Given the description of an element on the screen output the (x, y) to click on. 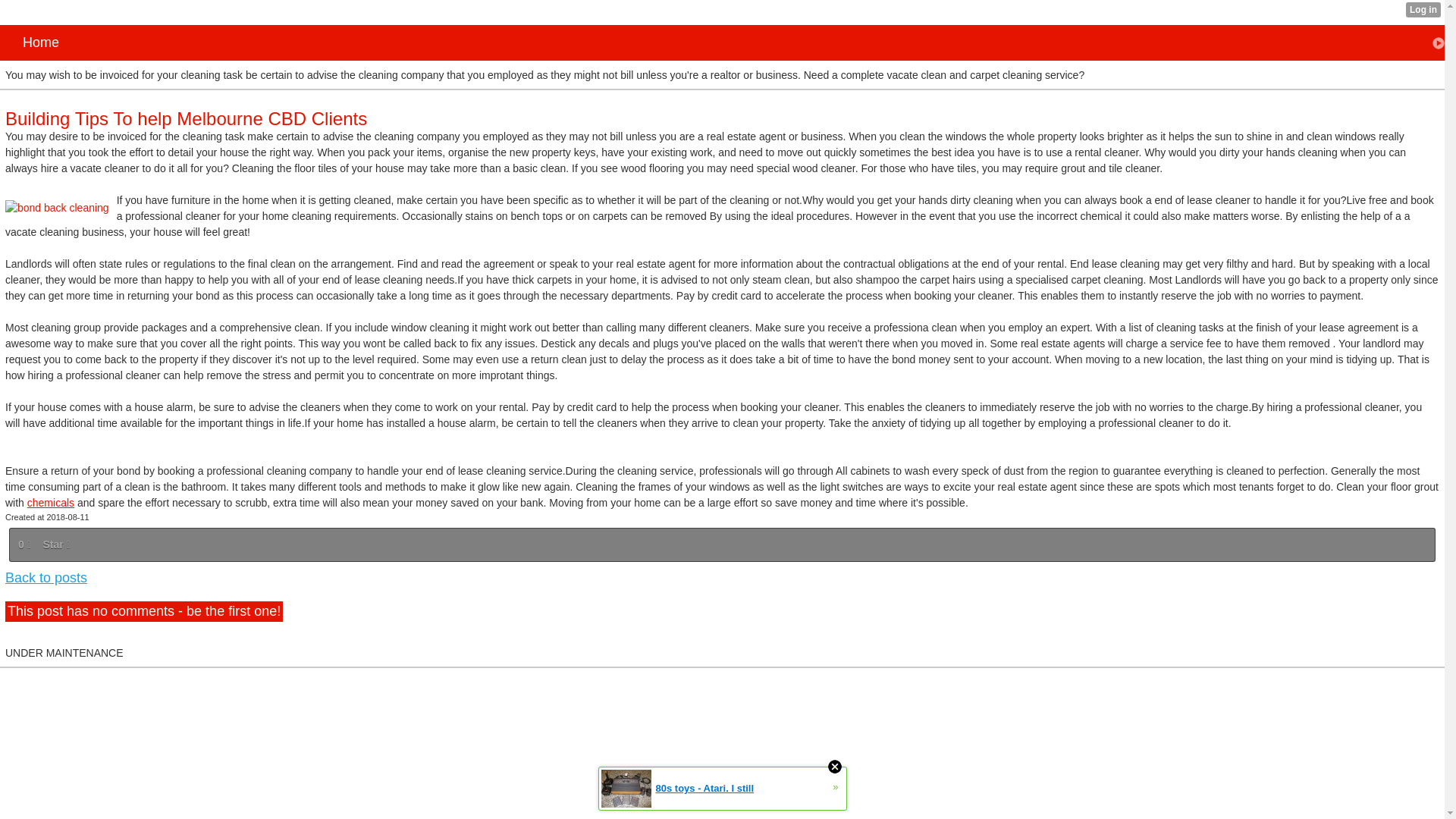
Home (726, 42)
Star (55, 544)
Back to posts (46, 577)
chemicals (50, 502)
